Given the description of an element on the screen output the (x, y) to click on. 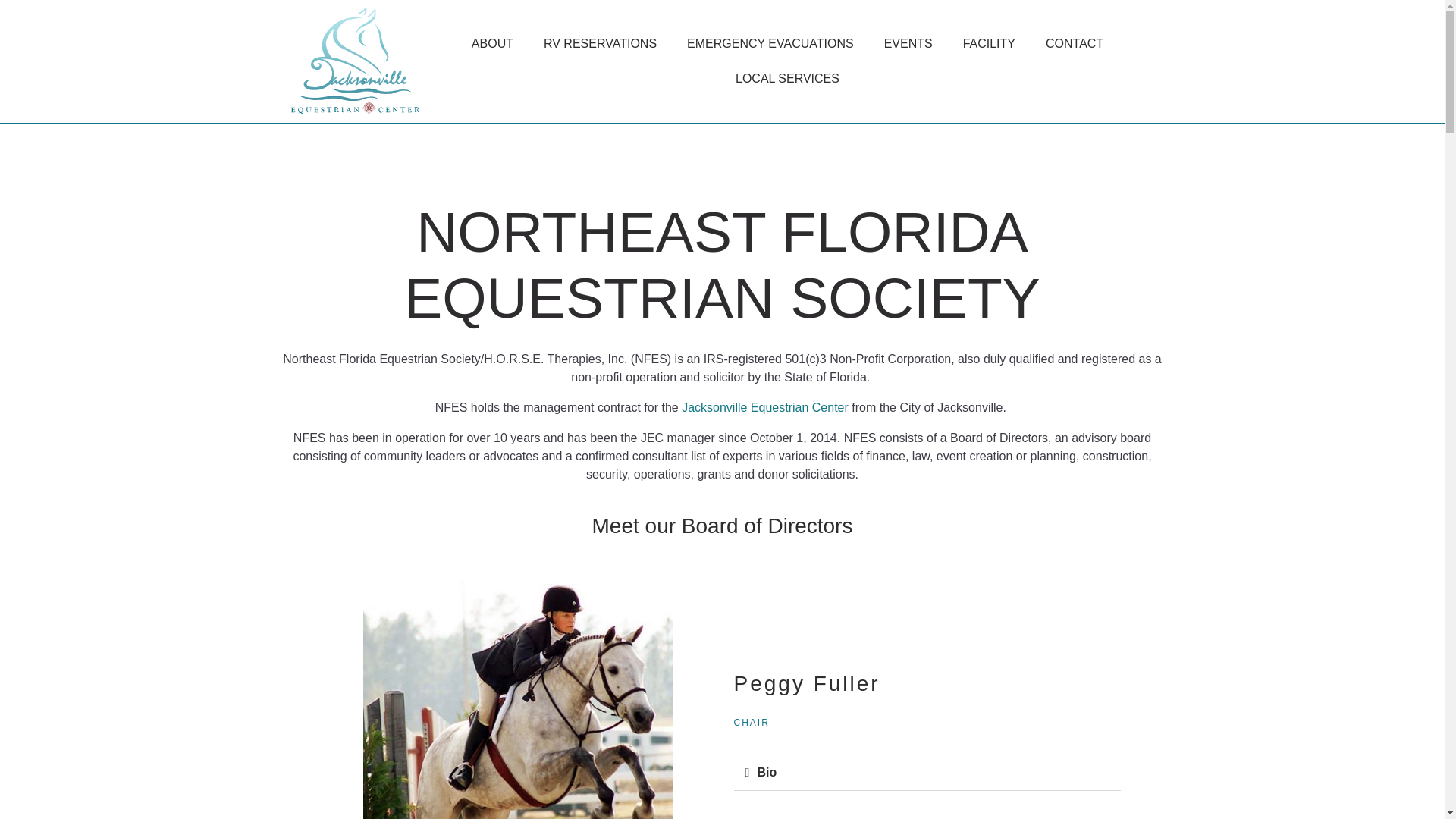
CONTACT (1074, 43)
LOCAL SERVICES (787, 78)
EVENTS (907, 43)
ABOUT (491, 43)
EMERGENCY EVACUATIONS (770, 43)
FACILITY (988, 43)
RV RESERVATIONS (599, 43)
